Given the description of an element on the screen output the (x, y) to click on. 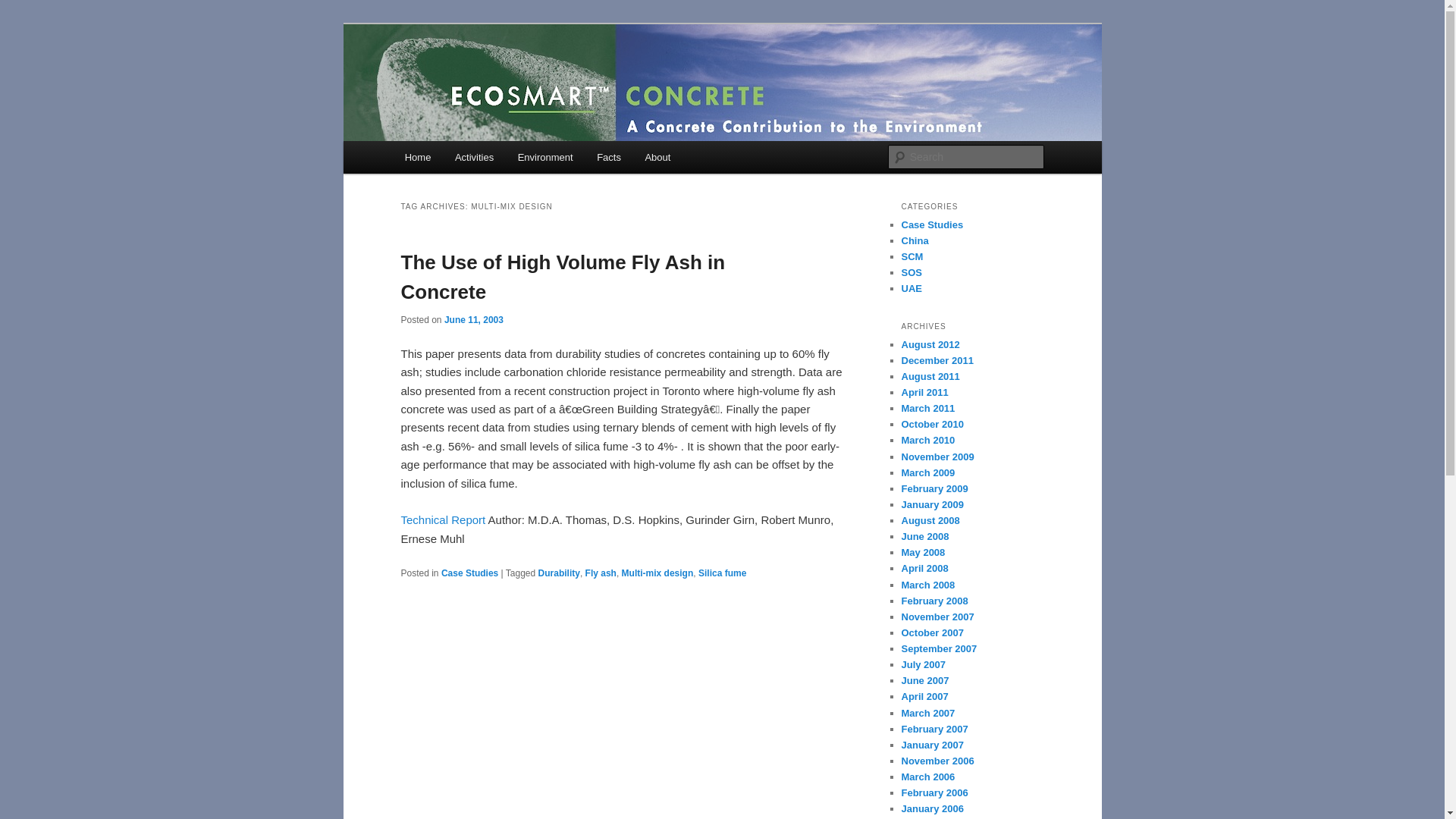
Facts (608, 156)
Activities (473, 156)
China (914, 240)
China APP project (914, 240)
3:39 pm (473, 318)
EcoSmart Concrete (505, 78)
Search (24, 8)
TEAM UAE project (911, 288)
Multi-mix design (657, 573)
June 11, 2003 (473, 318)
December 2011 (936, 360)
About (657, 156)
Case Studies (469, 573)
Durability (558, 573)
